Given the description of an element on the screen output the (x, y) to click on. 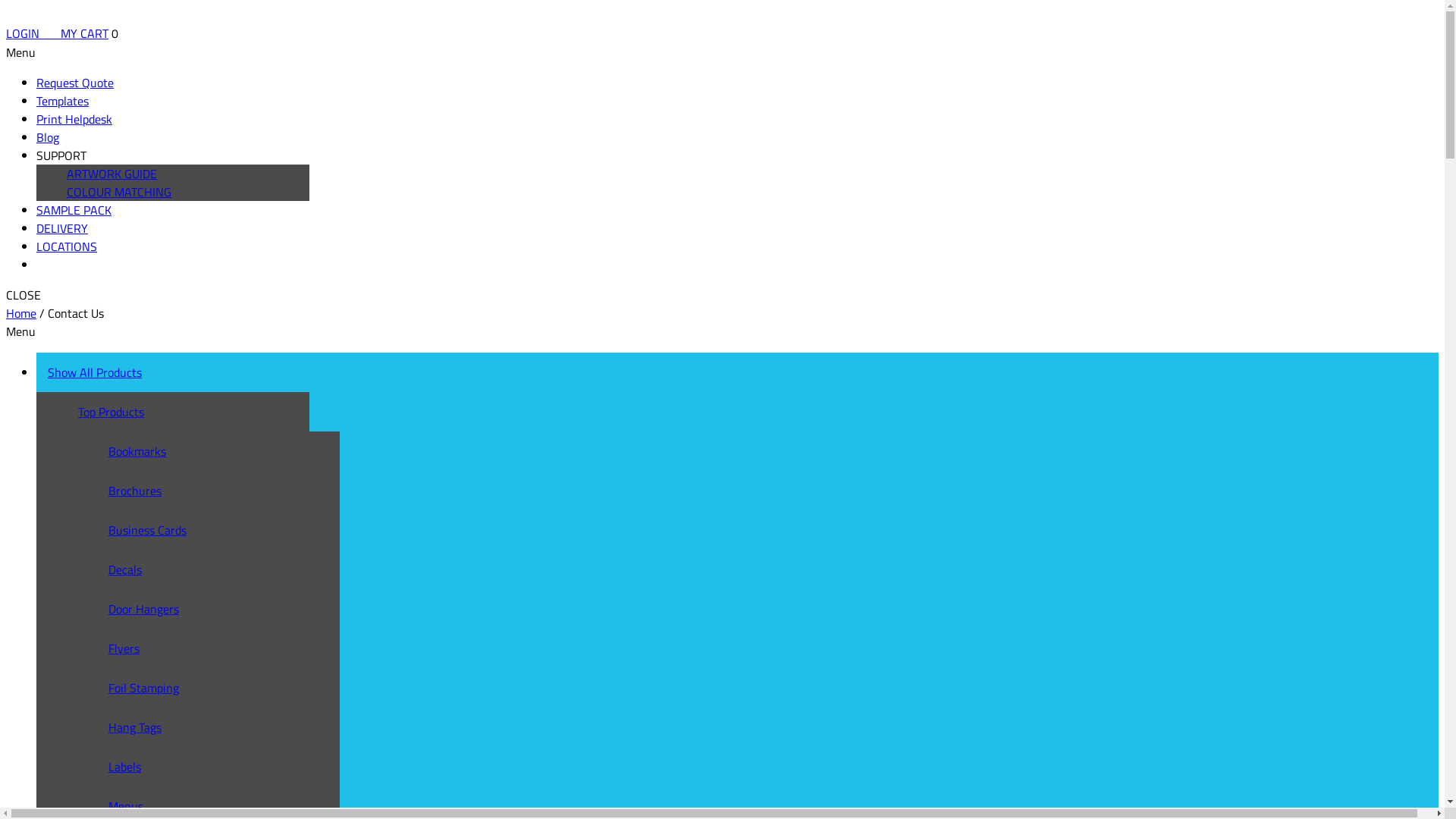
Labels Element type: text (229, 766)
Hang Tags Element type: text (229, 726)
LOCATIONS Element type: text (66, 246)
    Element type: text (54, 33)
ARTWORK GUIDE Element type: text (111, 173)
Print Helpdesk Element type: text (74, 118)
MY CART Element type: text (84, 33)
Templates Element type: text (62, 100)
SUPPORT Element type: text (61, 155)
Bookmarks Element type: text (229, 450)
COLOUR MATCHING Element type: text (118, 191)
Foil Stamping Element type: text (229, 687)
Request Quote Element type: text (74, 82)
SAMPLE PACK Element type: text (73, 209)
View your shopping cart Element type: hover (54, 33)
Home Element type: text (21, 313)
Business Cards Element type: text (229, 529)
Flyers Element type: text (229, 648)
Contact Element type: text (56, 264)
Blog Element type: text (47, 137)
Decals Element type: text (229, 569)
Top Products Element type: text (199, 411)
Door Hangers Element type: text (229, 608)
LOGIN   Element type: text (27, 33)
Brochures Element type: text (229, 490)
DELIVERY Element type: text (61, 228)
